Given the description of an element on the screen output the (x, y) to click on. 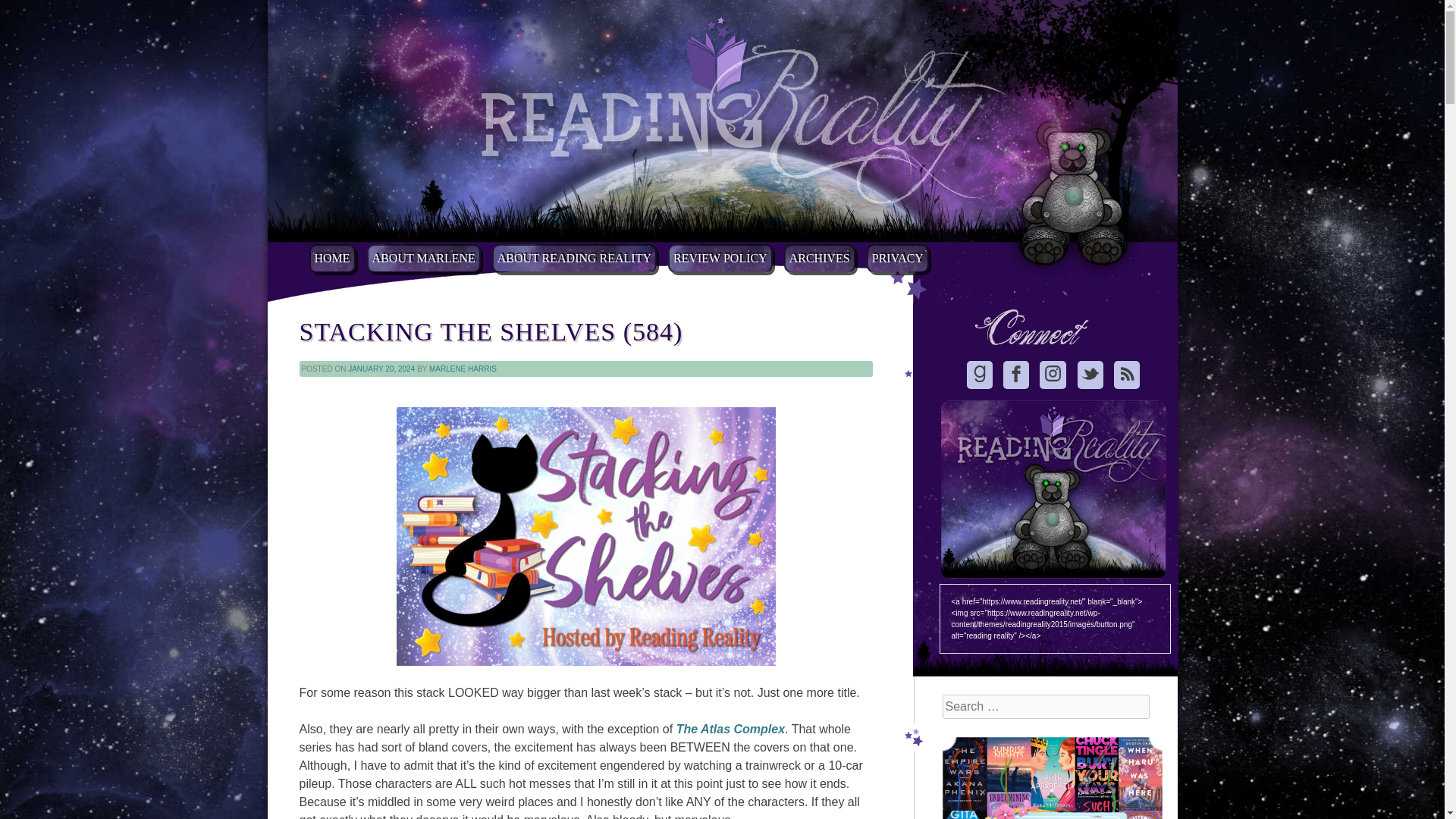
ARCHIVES (820, 258)
REVIEW POLICY (720, 258)
JANUARY 20, 2024 (380, 368)
The Atlas Complex (730, 728)
HOME (331, 258)
PRIVACY (897, 258)
MARLENE HARRIS (462, 368)
ABOUT MARLENE (423, 258)
ABOUT READING REALITY (574, 258)
